Given the description of an element on the screen output the (x, y) to click on. 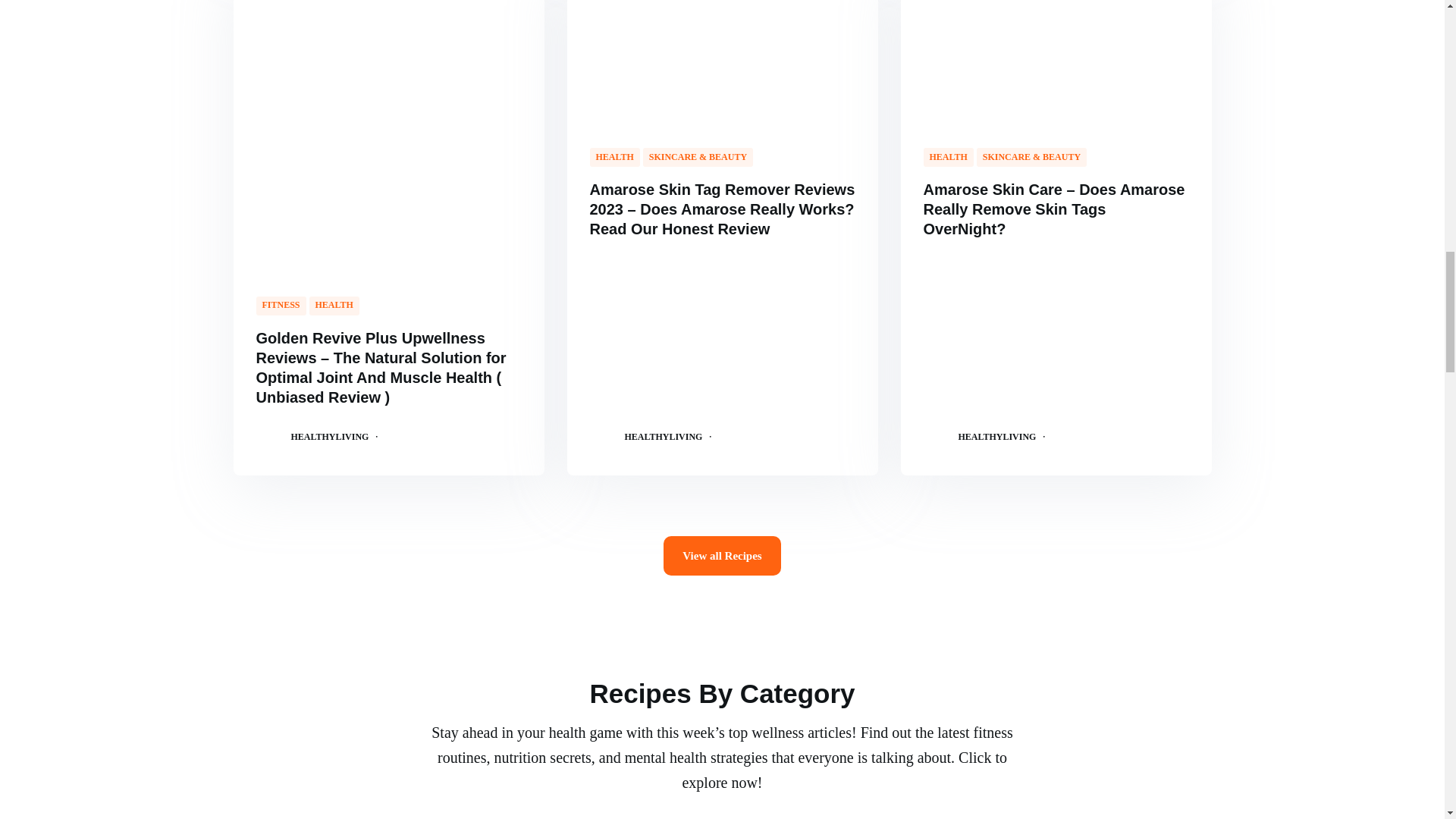
Posts by healthyliving (330, 435)
Posts by healthyliving (663, 435)
Posts by healthyliving (997, 435)
